Given the description of an element on the screen output the (x, y) to click on. 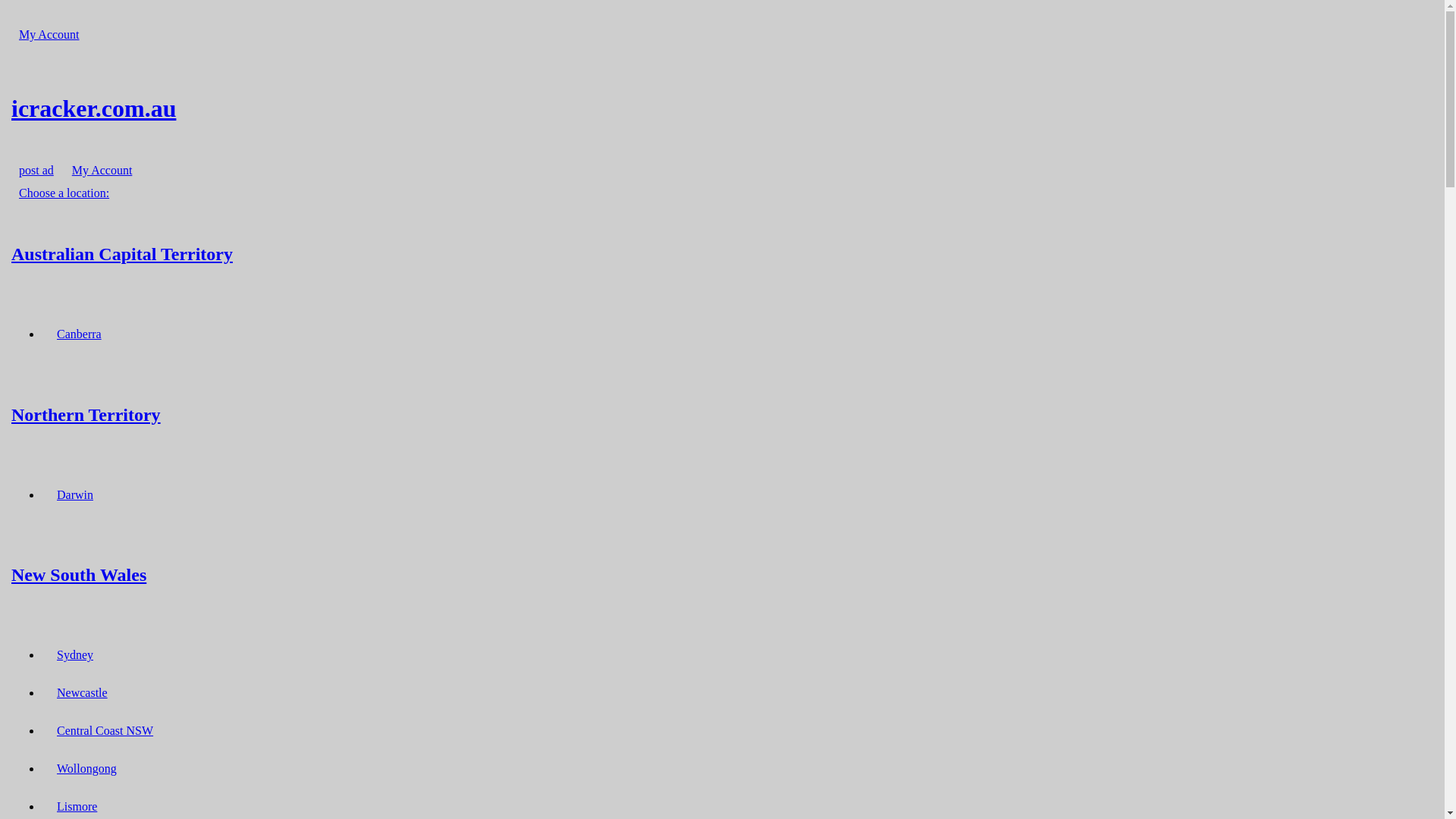
Central Coast NSW Element type: text (104, 730)
icracker.com.au Element type: text (722, 108)
Wollongong Element type: text (86, 768)
post ad Element type: text (36, 170)
Northern Territory Element type: text (722, 414)
Sydney Element type: text (74, 654)
Canberra Element type: text (79, 334)
Darwin Element type: text (74, 494)
My Account Element type: text (49, 34)
My Account Element type: text (102, 170)
Newcastle Element type: text (82, 692)
Australian Capital Territory Element type: text (722, 253)
New South Wales Element type: text (722, 575)
Choose a location: Element type: text (63, 192)
